Given the description of an element on the screen output the (x, y) to click on. 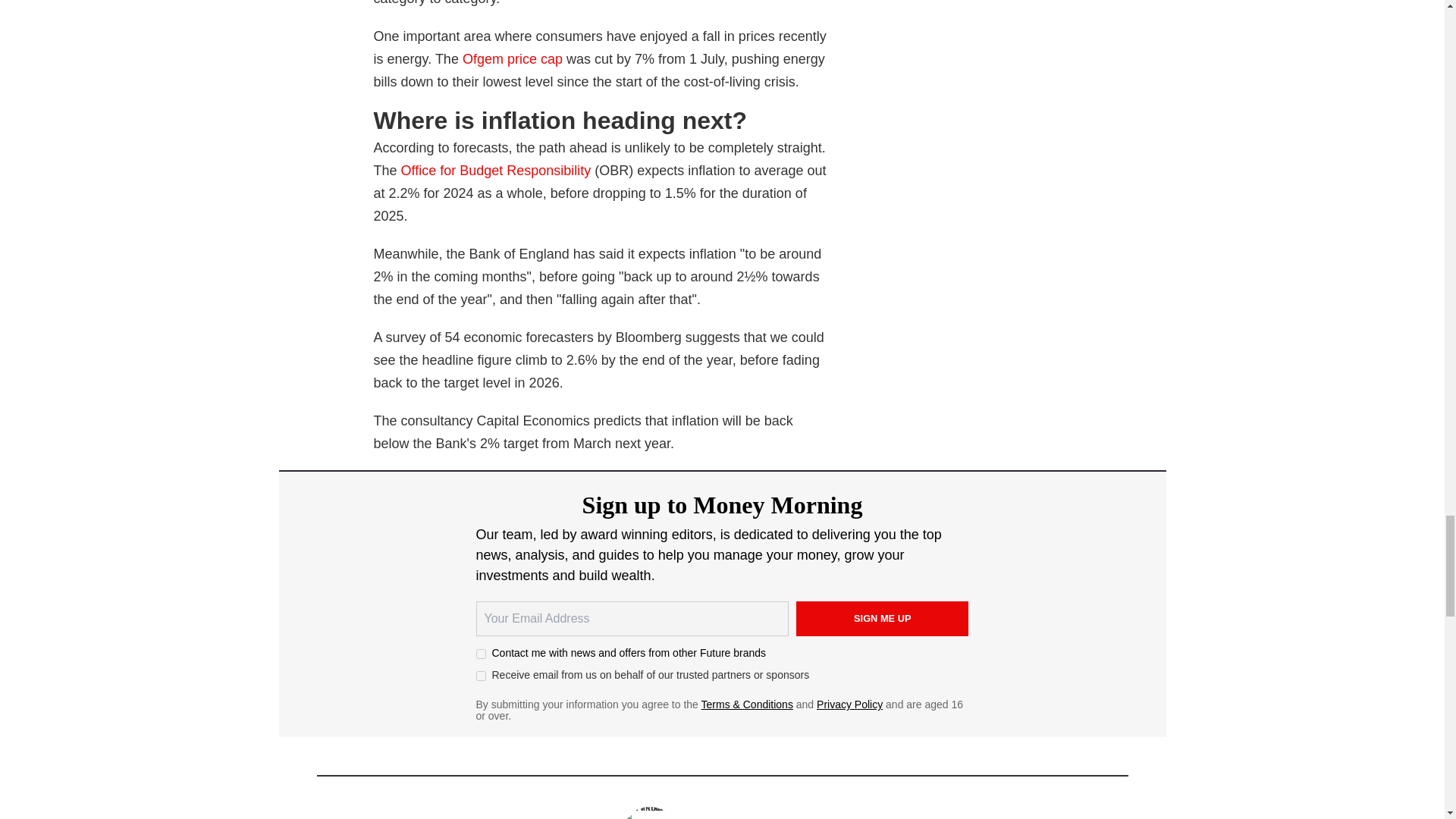
on (481, 675)
on (481, 654)
Sign me up (882, 618)
